Given the description of an element on the screen output the (x, y) to click on. 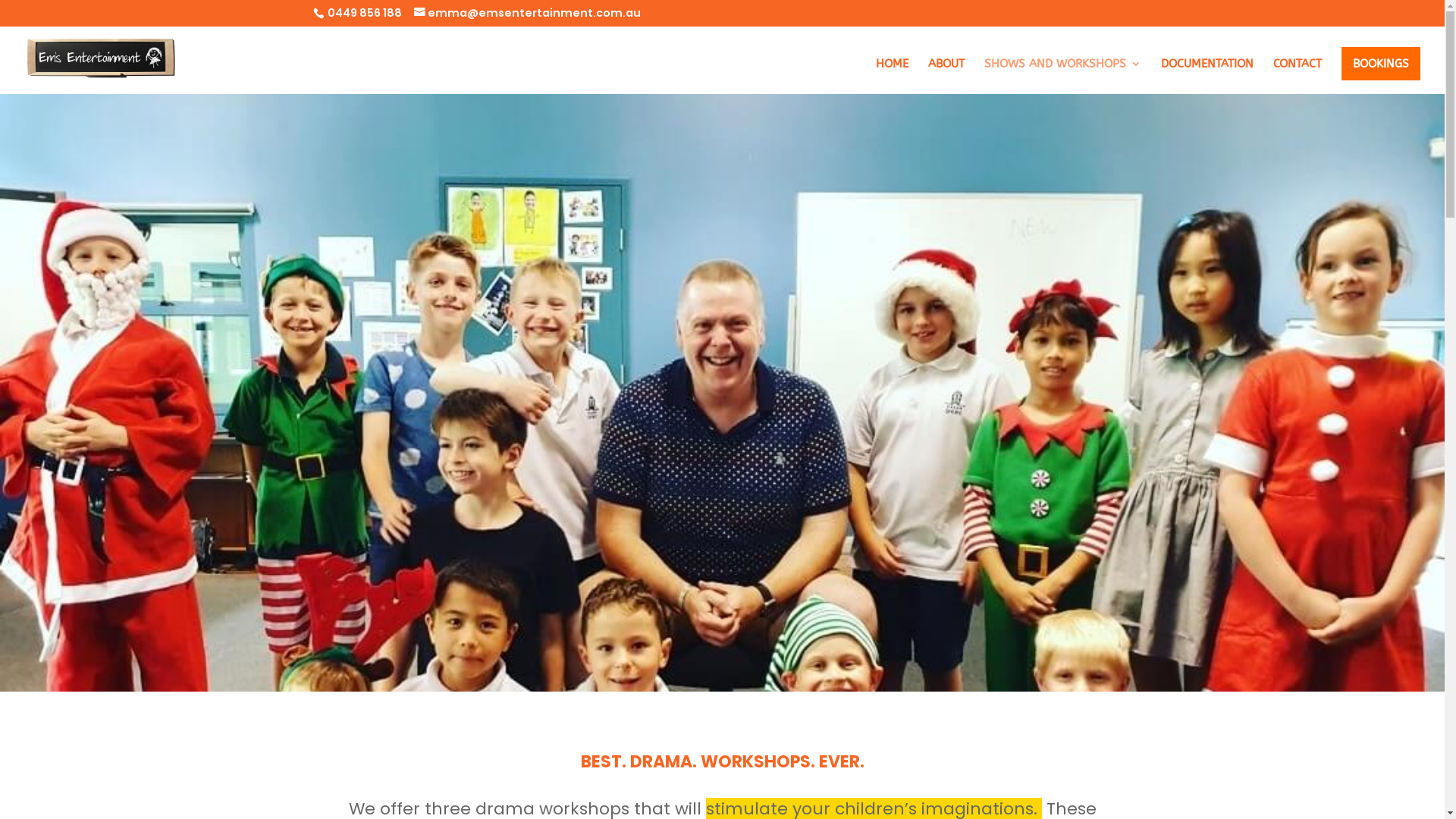
SHOWS AND WORKSHOPS Element type: text (1062, 76)
HOME Element type: text (891, 76)
CONTACT Element type: text (1297, 76)
emma@emsentertainment.com.au Element type: text (527, 12)
DOCUMENTATION Element type: text (1207, 76)
ABOUT Element type: text (946, 76)
BOOKINGS Element type: text (1380, 63)
We're Covid Safe Element type: hover (1036, 553)
0449 856 188 Element type: text (363, 12)
